Given the description of an element on the screen output the (x, y) to click on. 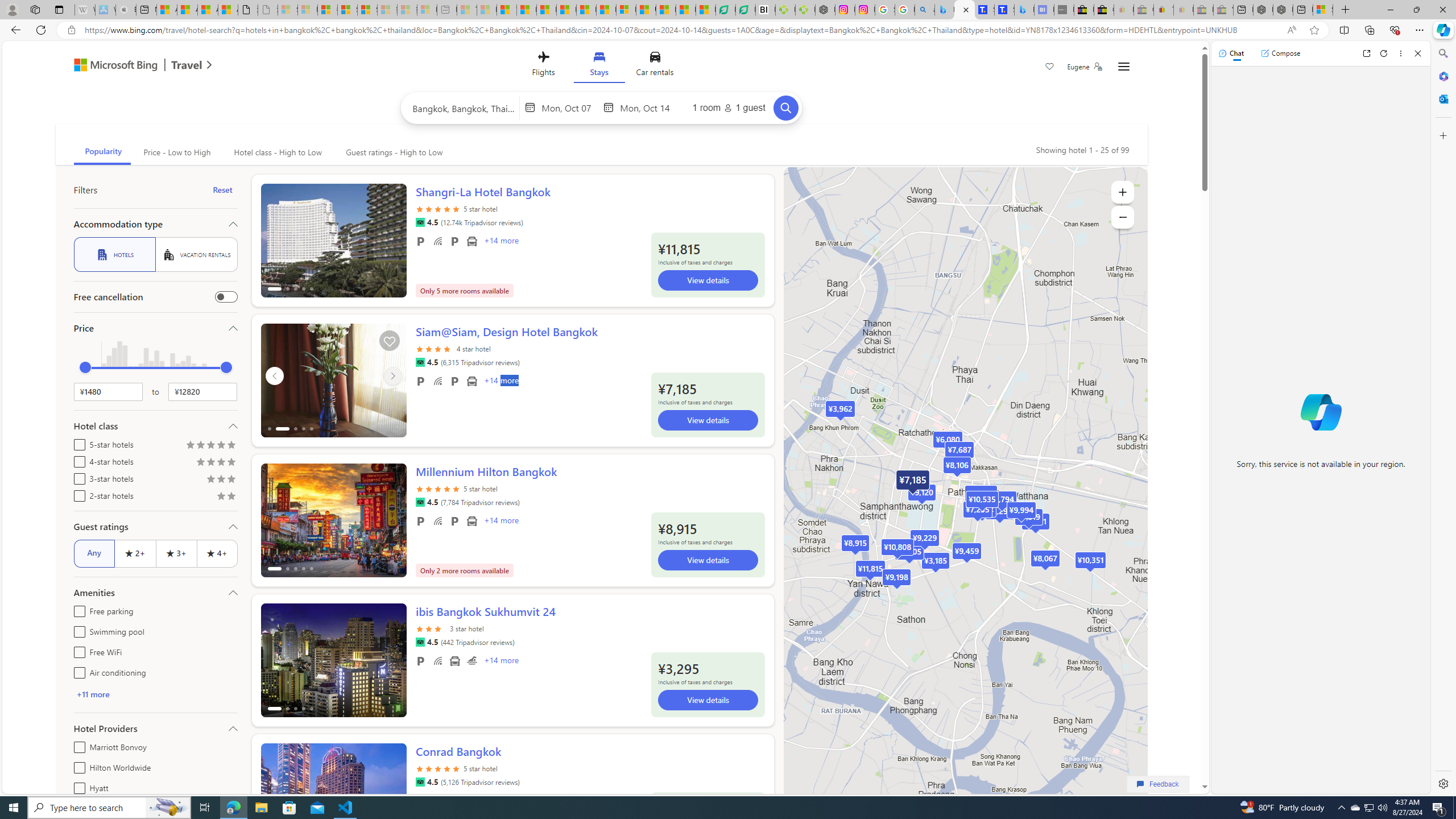
Open link in new tab (1366, 53)
Yard, Garden & Outdoor Living - Sleeping (1222, 9)
Accommodation type (154, 223)
Price (154, 327)
Foo BAR | Trusted Community Engagement and Contributions (606, 9)
Free WiFi (437, 660)
Wikipedia - Sleeping (84, 9)
Nvidia va a poner a prueba la paciencia de los inversores (765, 9)
Free cancellation (225, 296)
Airport transportation (454, 660)
